Given the description of an element on the screen output the (x, y) to click on. 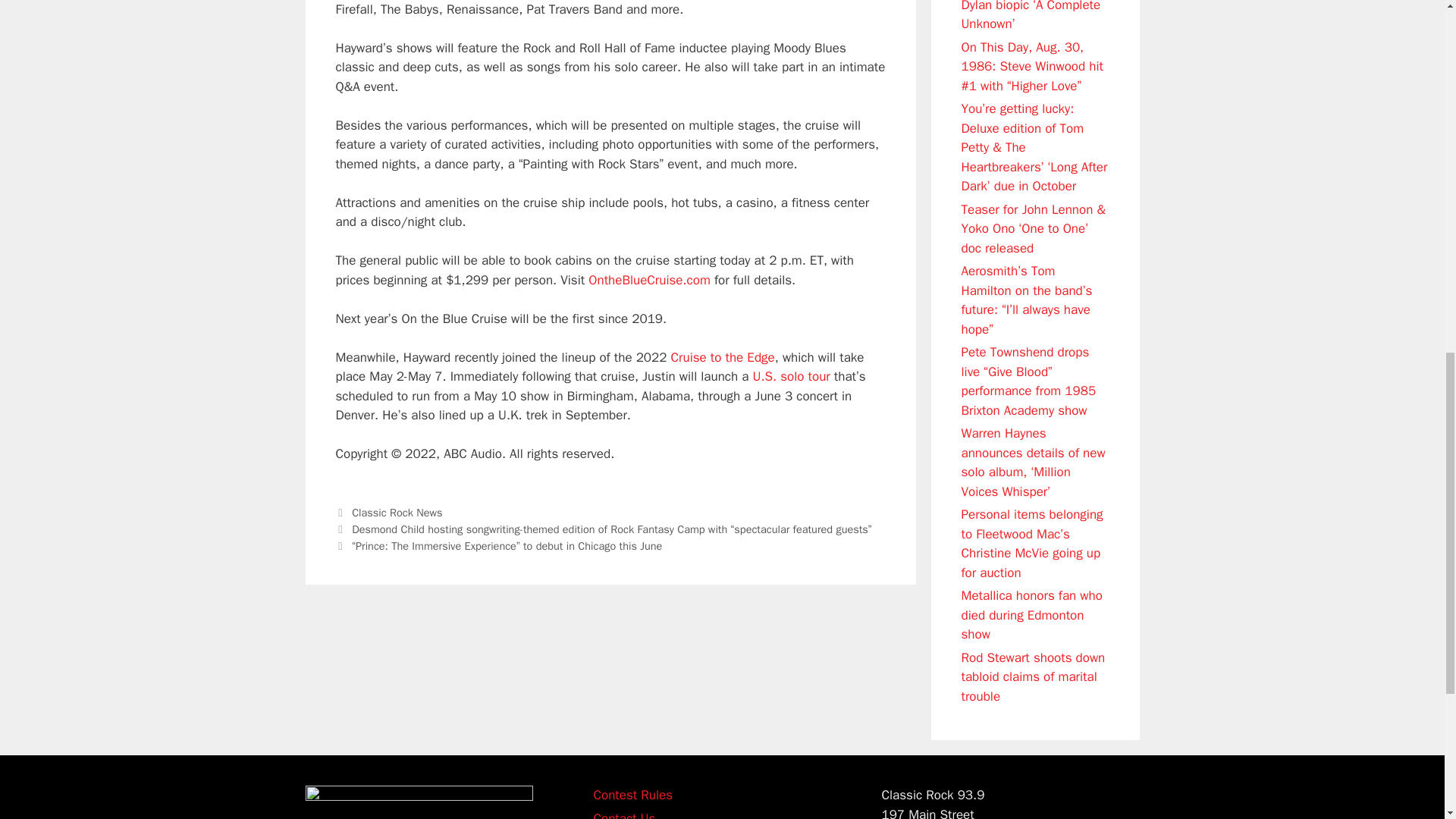
Classic Rock News (397, 512)
Contact Us (623, 814)
Metallica honors fan who died during Edmonton show (1031, 615)
Contest Rules (632, 795)
OntheBlueCruise.com (649, 279)
U.S. solo tour (790, 376)
Cruise to the Edge (722, 357)
Rod Stewart shoots down tabloid claims of marital trouble (1032, 676)
